Given the description of an element on the screen output the (x, y) to click on. 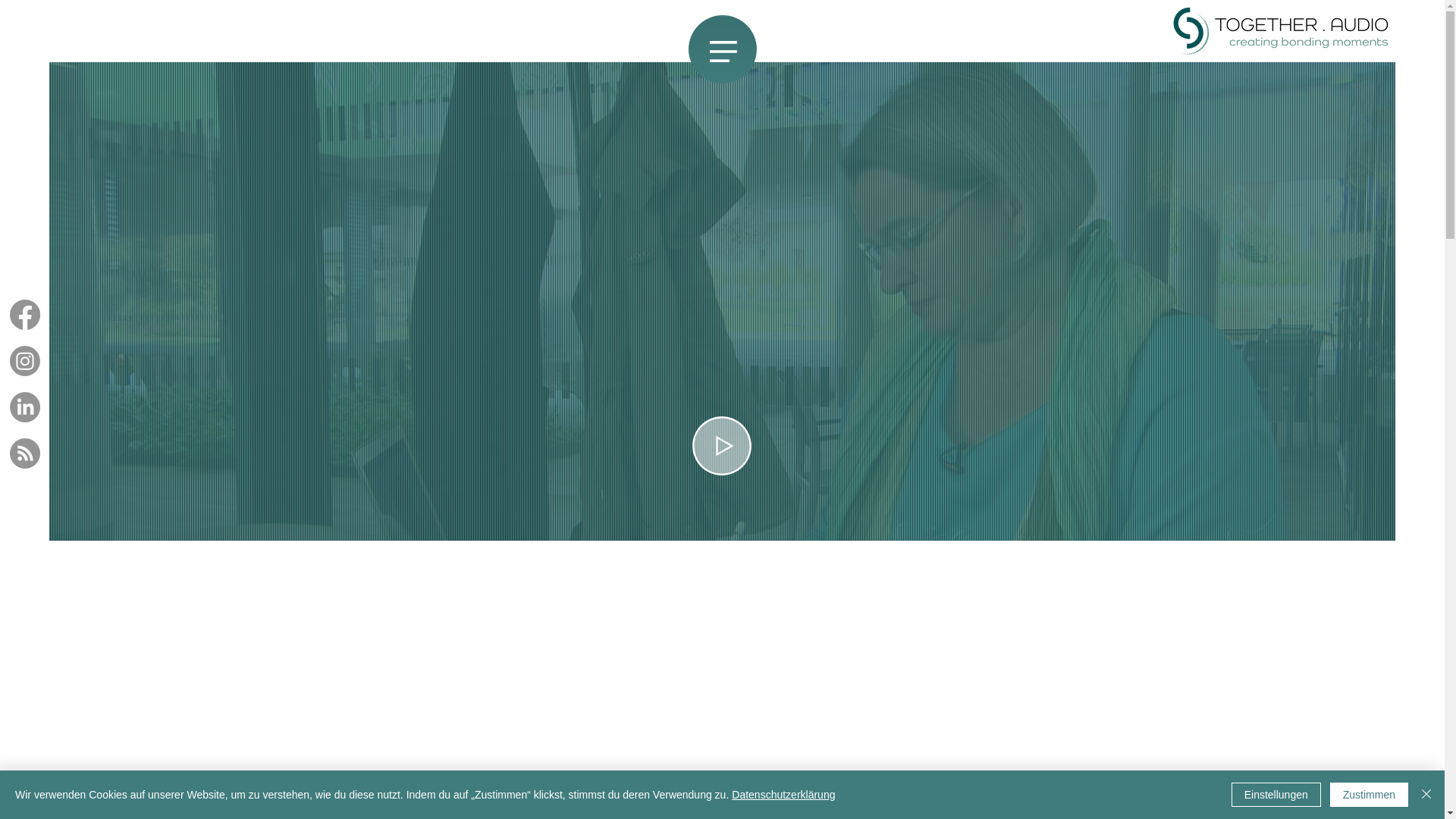
Einstellungen Element type: text (1276, 794)
Zustimmen Element type: text (1369, 794)
TA-LOGO TEXT.png Element type: hover (1281, 31)
